Given the description of an element on the screen output the (x, y) to click on. 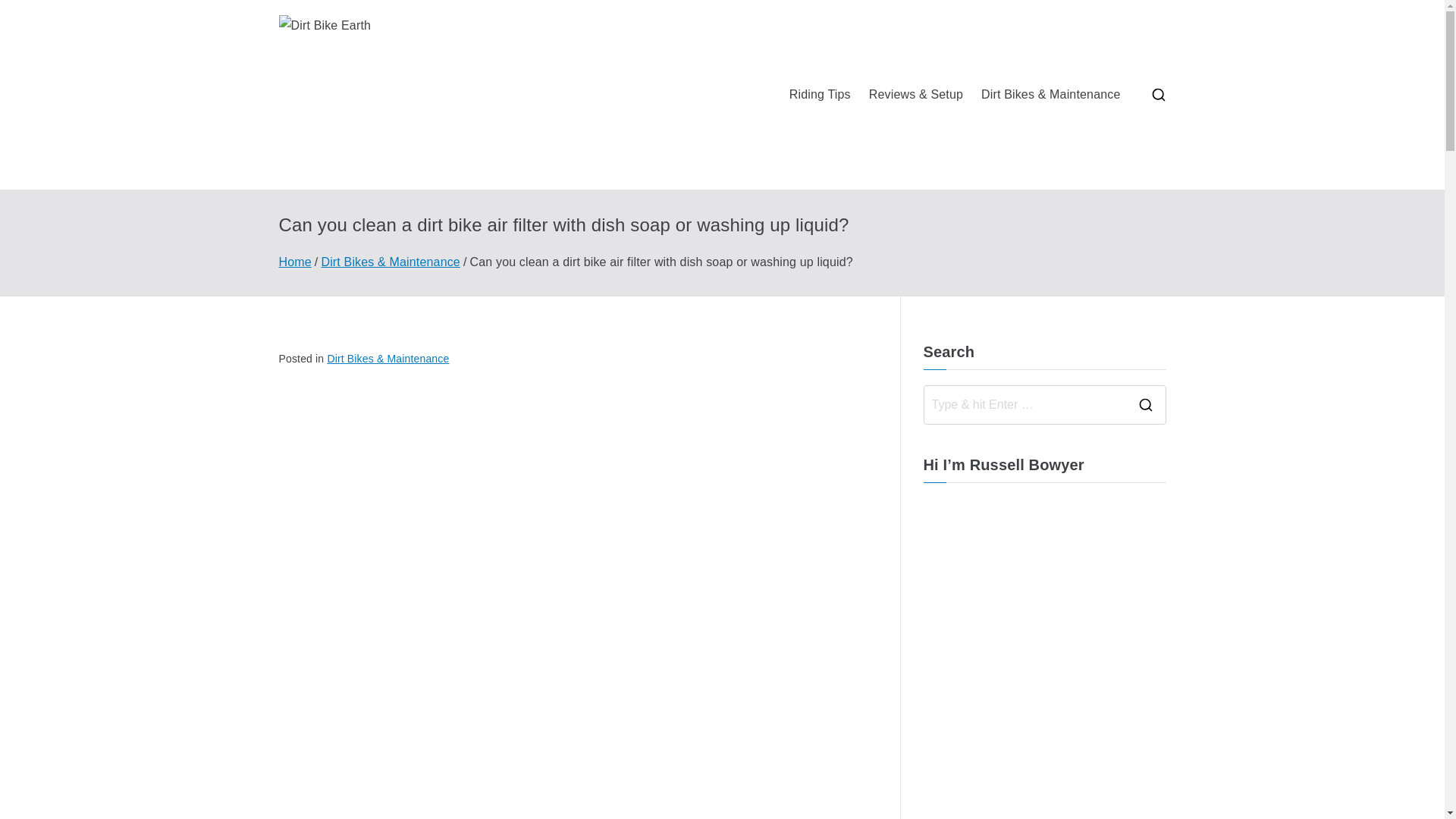
Search (26, 12)
Search for: (1024, 404)
Riding Tips (819, 95)
Dirt Bike Earth (558, 114)
Home (295, 261)
